Given the description of an element on the screen output the (x, y) to click on. 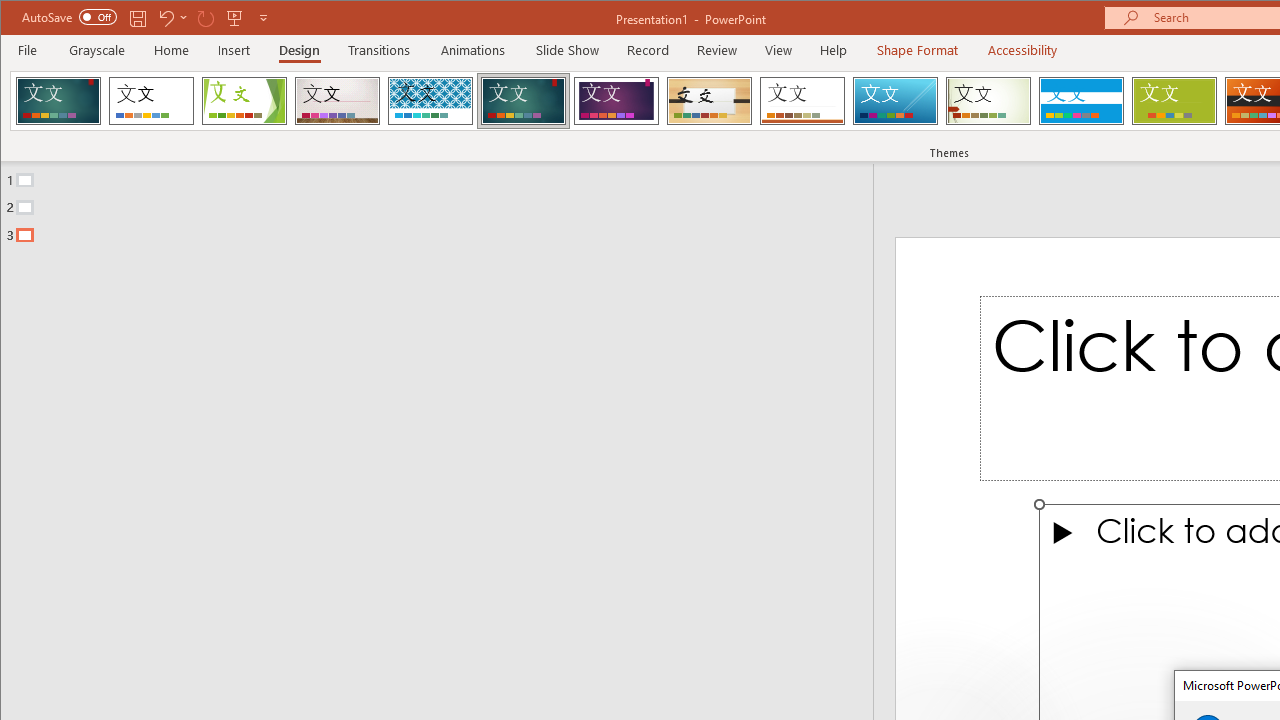
Ion Boardroom (616, 100)
Organic (709, 100)
Gallery (337, 100)
Basis (1174, 100)
